Given the description of an element on the screen output the (x, y) to click on. 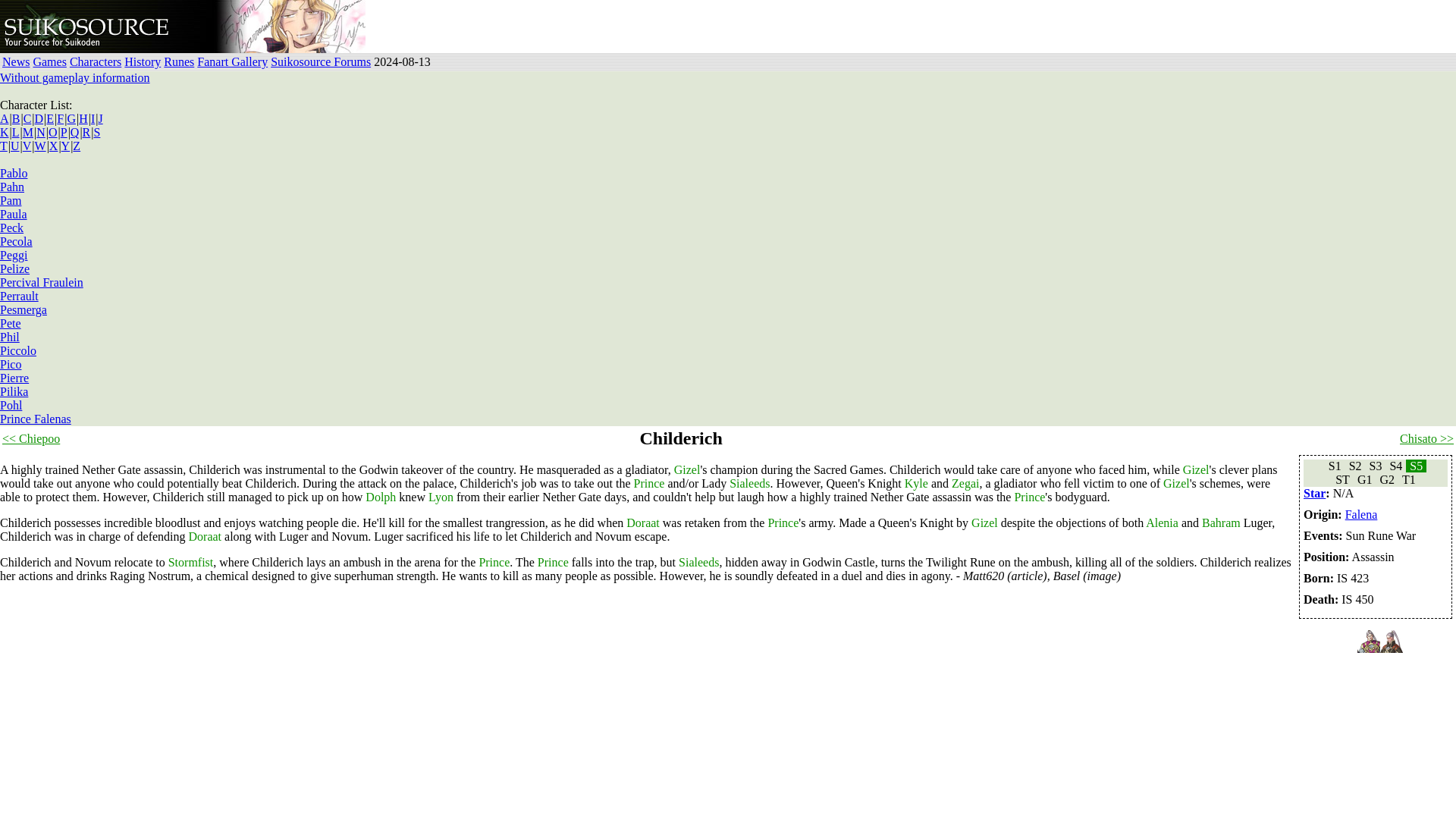
Pam (10, 200)
Fanart Gallery (231, 61)
Runes (178, 61)
Pablo (13, 173)
Euram as he thinks about his beloved Lym (289, 26)
Pahn (12, 186)
History (141, 61)
Characters (94, 61)
Peck (11, 227)
Paula (13, 214)
